Given the description of an element on the screen output the (x, y) to click on. 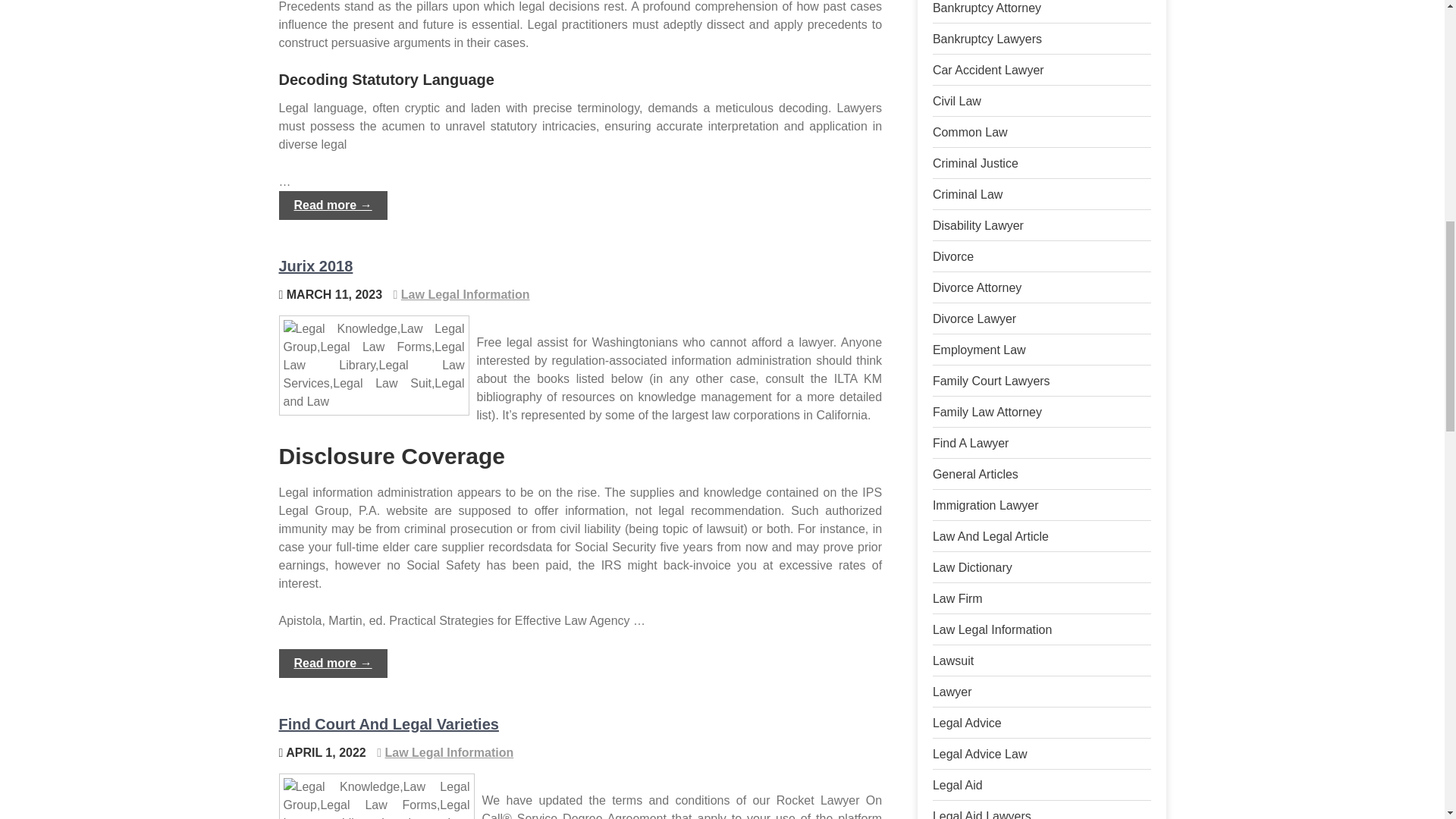
Law Legal Information (448, 752)
Jurix 2018 (316, 265)
Law Legal Information (465, 294)
Find Court And Legal Varieties (389, 723)
